Given the description of an element on the screen output the (x, y) to click on. 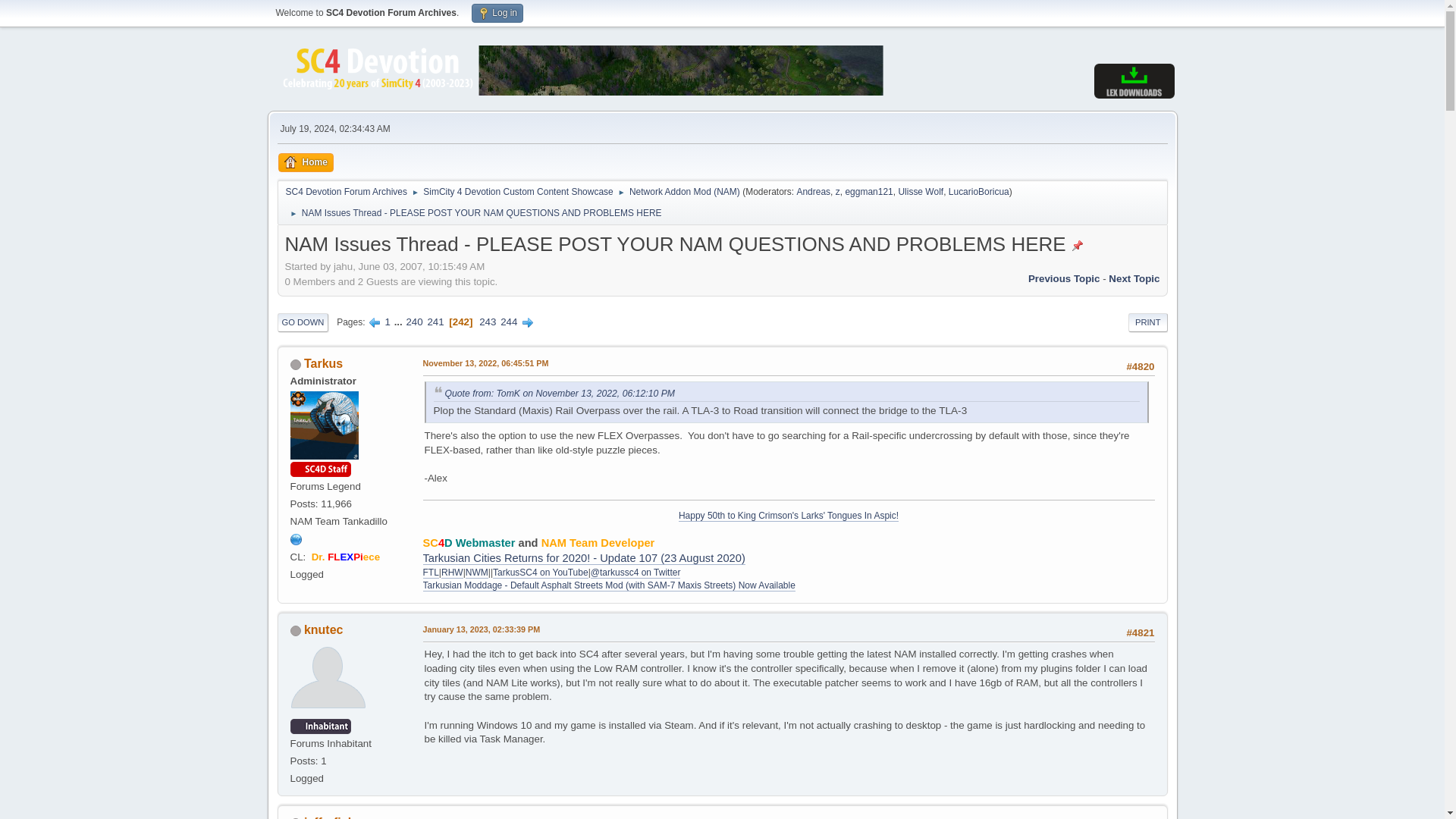
SC4 Devotion Forum Archives (346, 188)
View the profile of jeffryfisher (335, 817)
241 (435, 321)
GO DOWN (303, 321)
240 (413, 321)
Home (305, 162)
LucarioBoricua (979, 191)
Board Moderator (812, 191)
FTL (431, 572)
TarkusSC4 on YouTube (540, 572)
244 (508, 321)
Board Moderator (979, 191)
View the profile of Tarkus (323, 363)
